Given the description of an element on the screen output the (x, y) to click on. 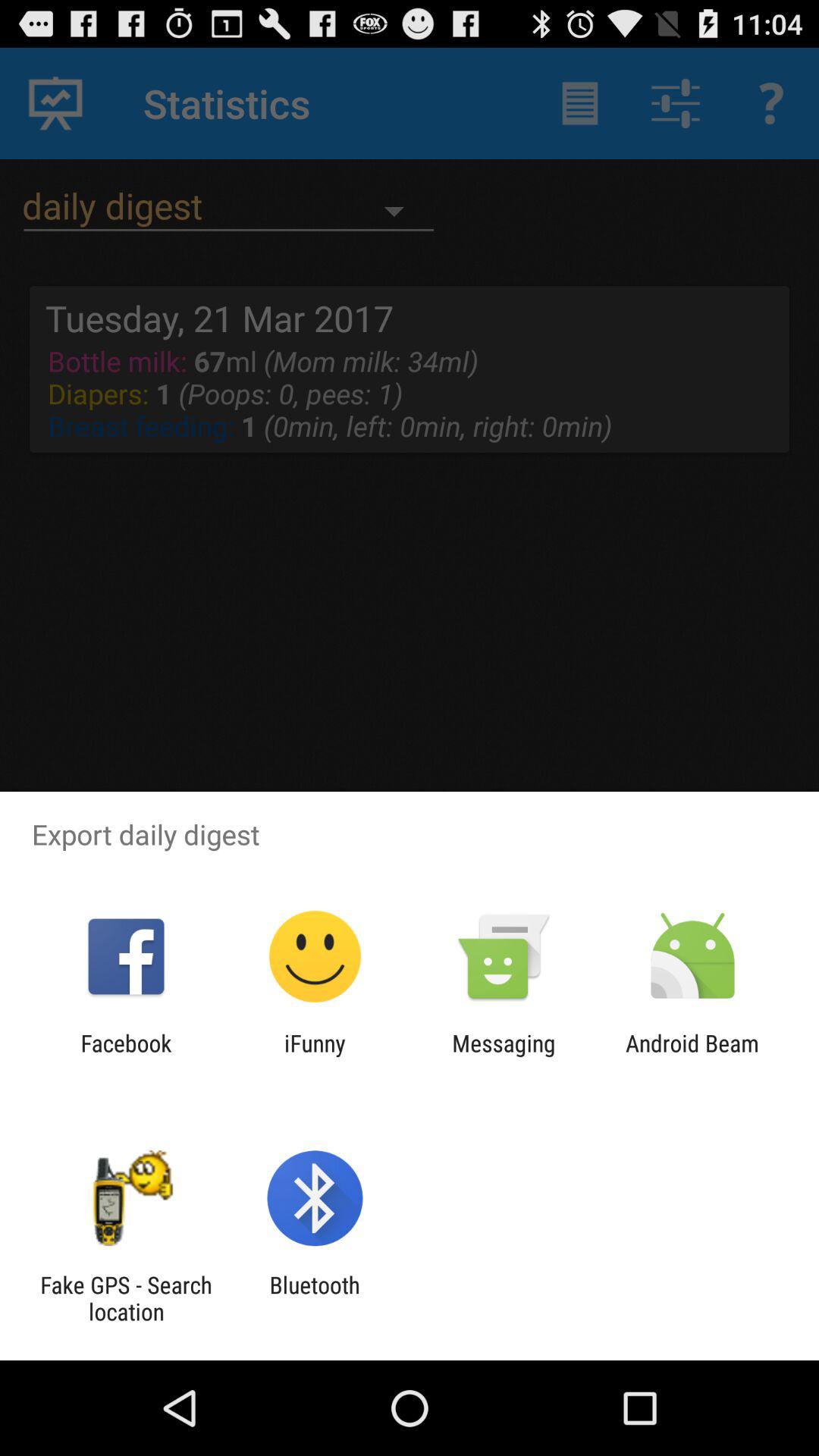
swipe to the fake gps search item (125, 1298)
